Given the description of an element on the screen output the (x, y) to click on. 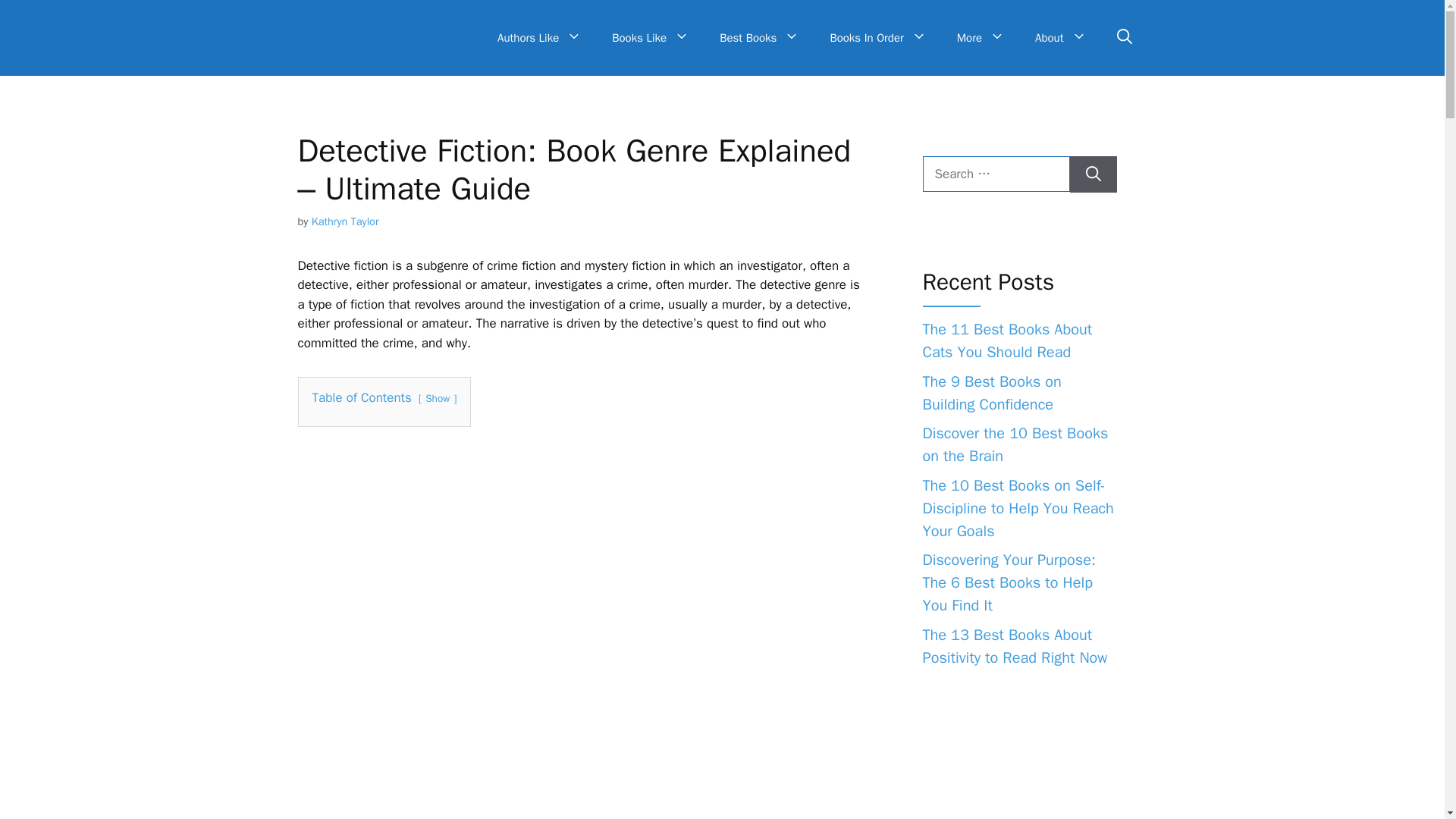
Books Like (650, 37)
Authors Like (538, 37)
View all posts by Kathryn Taylor (344, 221)
Best Books (758, 37)
